Given the description of an element on the screen output the (x, y) to click on. 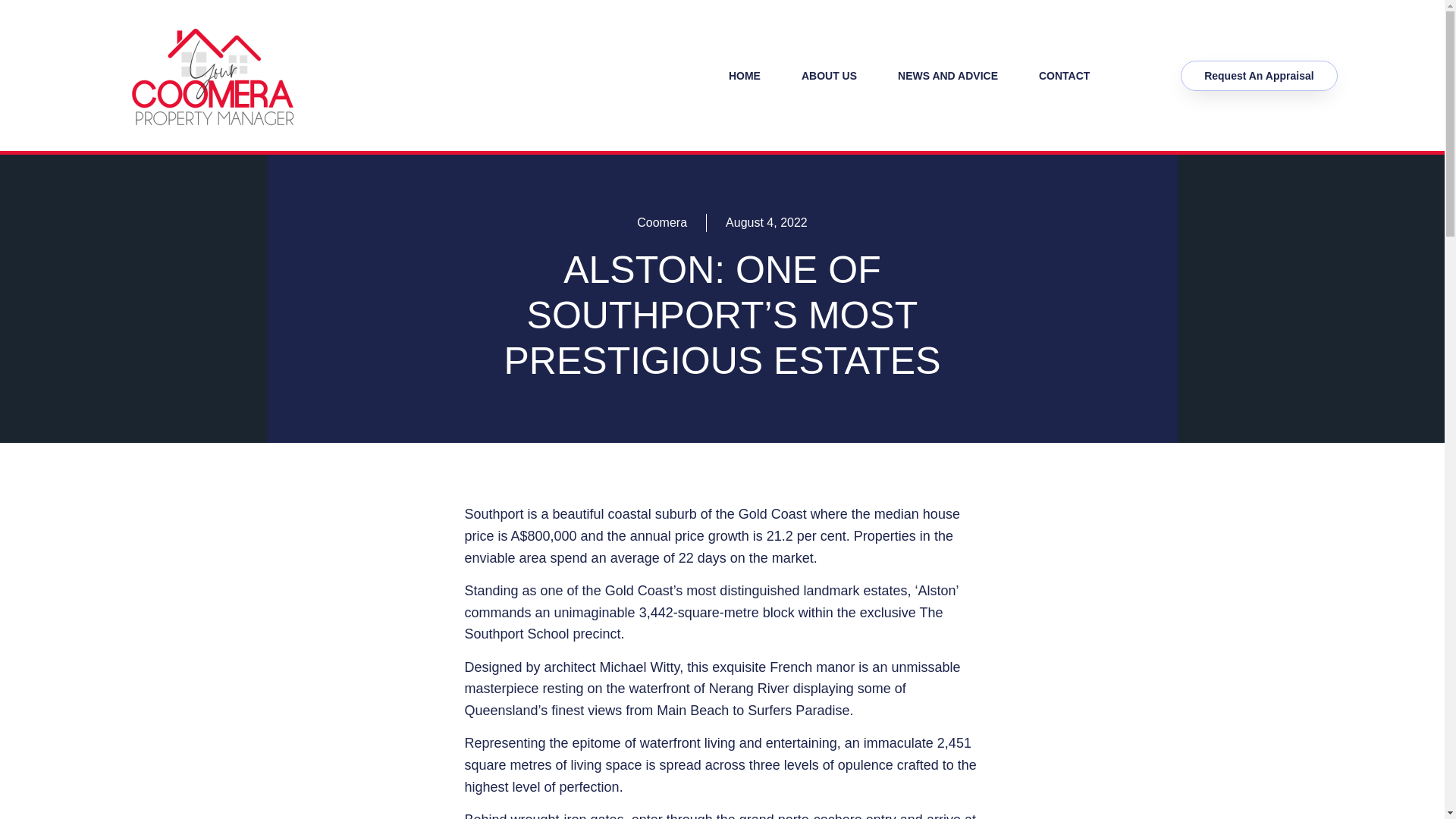
Request An Appraisal (1258, 75)
August 4, 2022 (766, 222)
Coomera (662, 222)
NEWS AND ADVICE (947, 74)
HOME (743, 74)
ABOUT US (828, 74)
CONTACT (1063, 74)
